Given the description of an element on the screen output the (x, y) to click on. 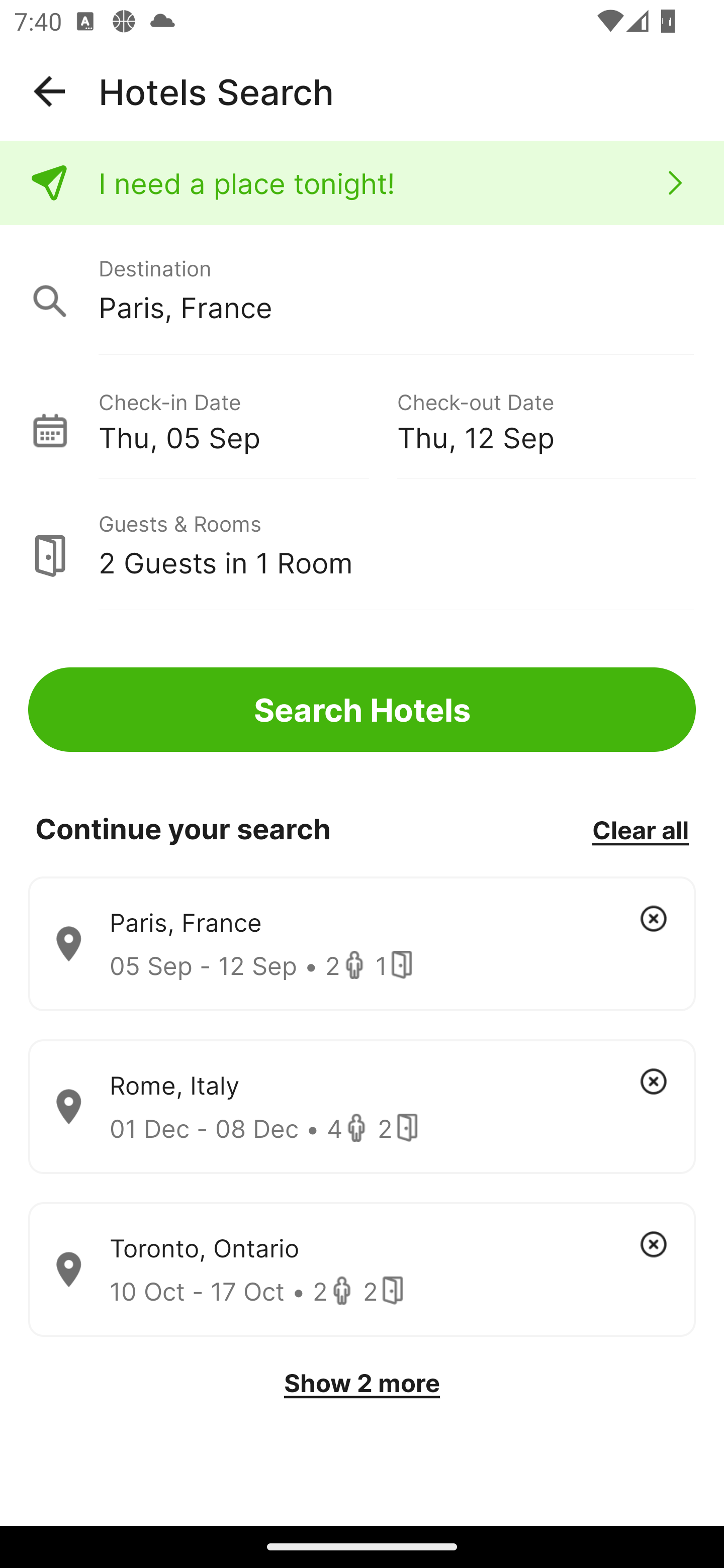
I need a place tonight! (362, 183)
Destination Paris, France (362, 290)
Check-in Date Thu, 05 Sep (247, 418)
Check-out Date Thu, 12 Sep (546, 418)
Guests & Rooms 2 Guests in 1 Room (362, 545)
Search Hotels (361, 709)
Clear all (640, 829)
Paris, France 05 Sep - 12 Sep • 2  1  (361, 943)
Rome, Italy 01 Dec - 08 Dec • 4  2  (361, 1106)
Toronto, Ontario 10 Oct - 17 Oct • 2  2  (361, 1269)
Show 2 more (362, 1382)
